Given the description of an element on the screen output the (x, y) to click on. 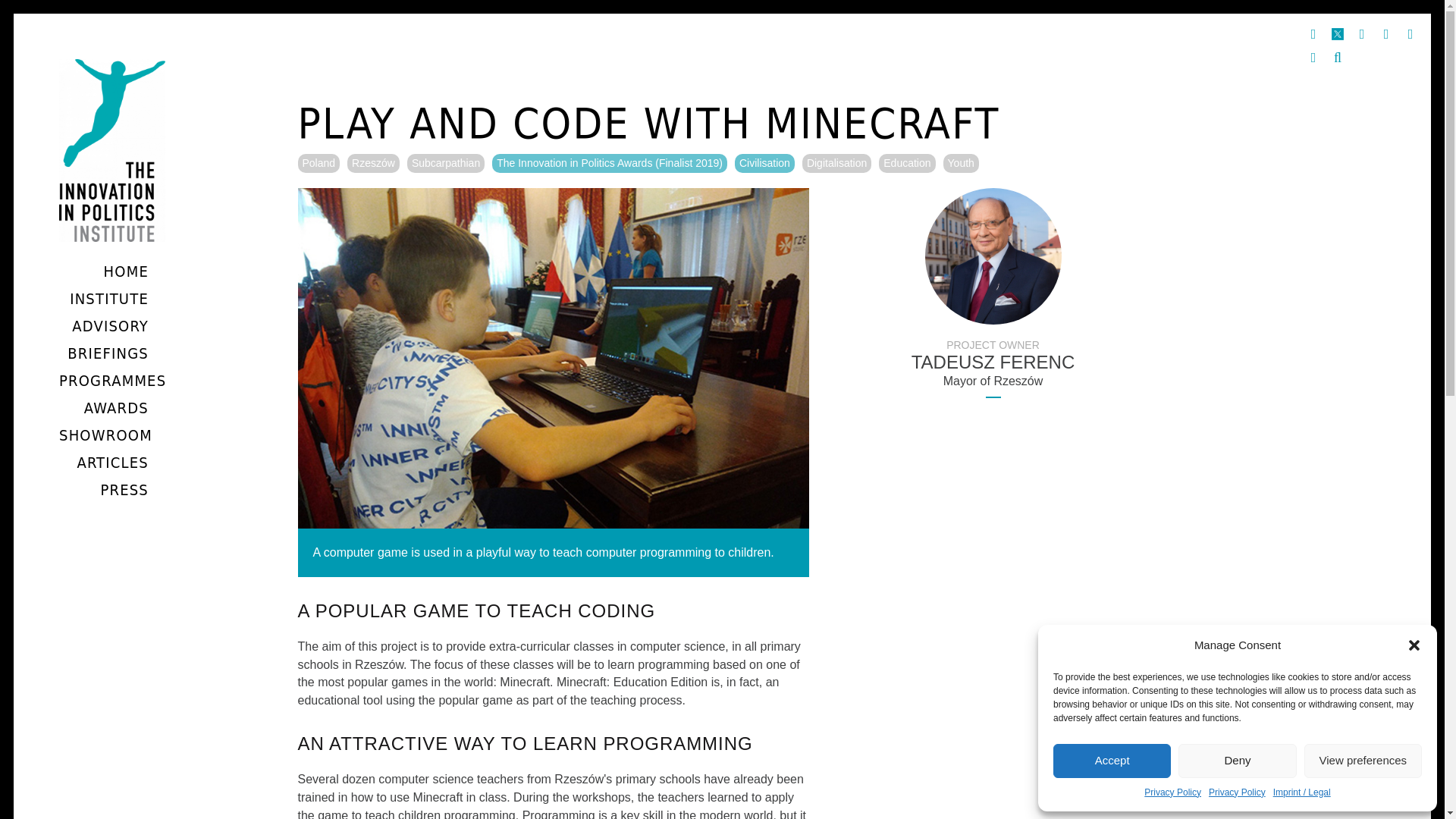
Privacy Policy (1236, 792)
THE INNOVATION IN POLITICS INSTITUTE (126, 292)
Deny (1236, 759)
HOME (125, 271)
PROGRAMMES (111, 380)
Search (1337, 57)
ADVISORY (109, 325)
INSTITUTE (108, 298)
Privacy Policy (1172, 792)
Accept (1111, 759)
